Given the description of an element on the screen output the (x, y) to click on. 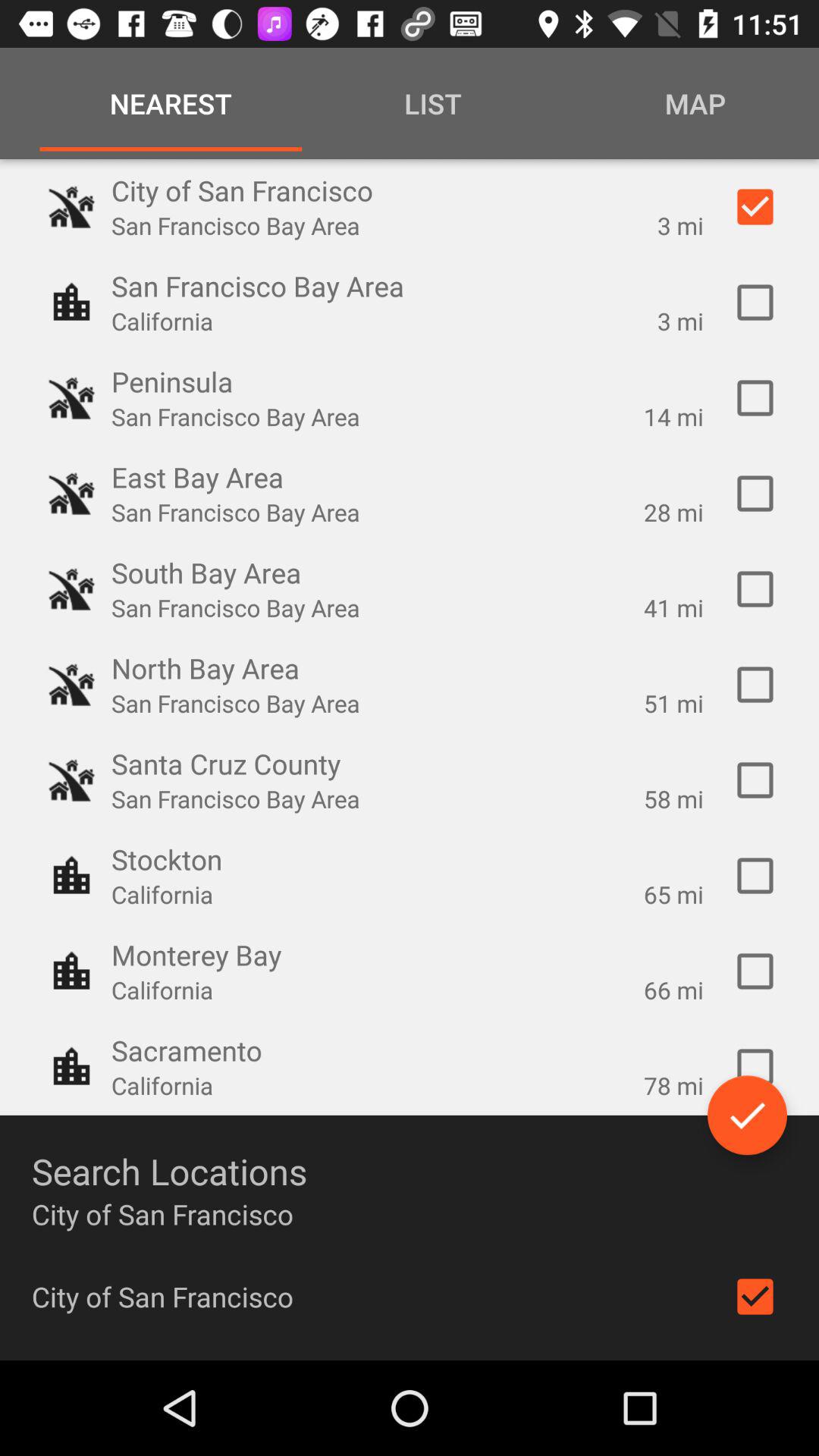
add option (755, 589)
